Given the description of an element on the screen output the (x, y) to click on. 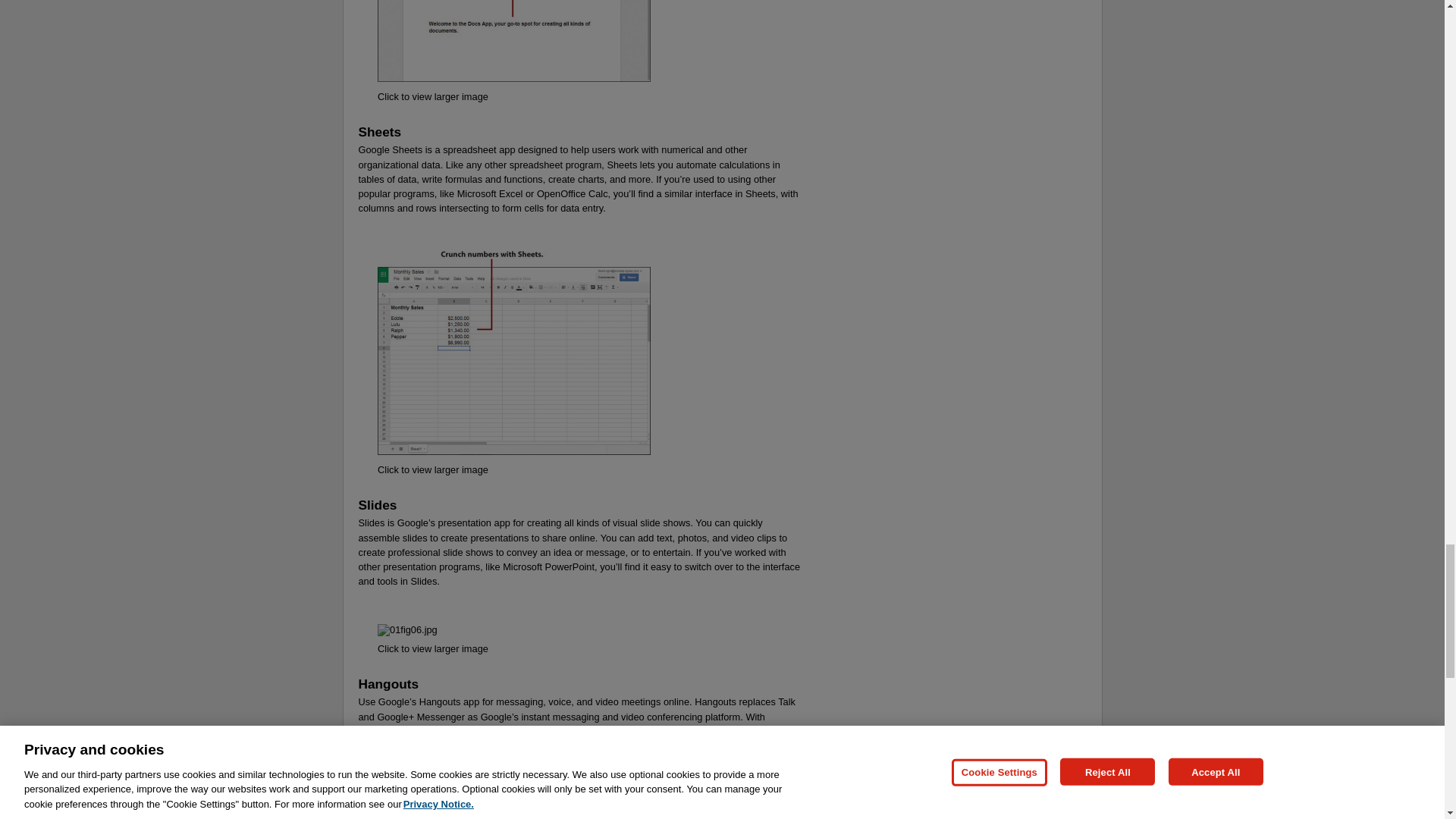
Click to view larger image (432, 648)
Click to view larger image (432, 469)
Click to view larger image (432, 96)
